Given the description of an element on the screen output the (x, y) to click on. 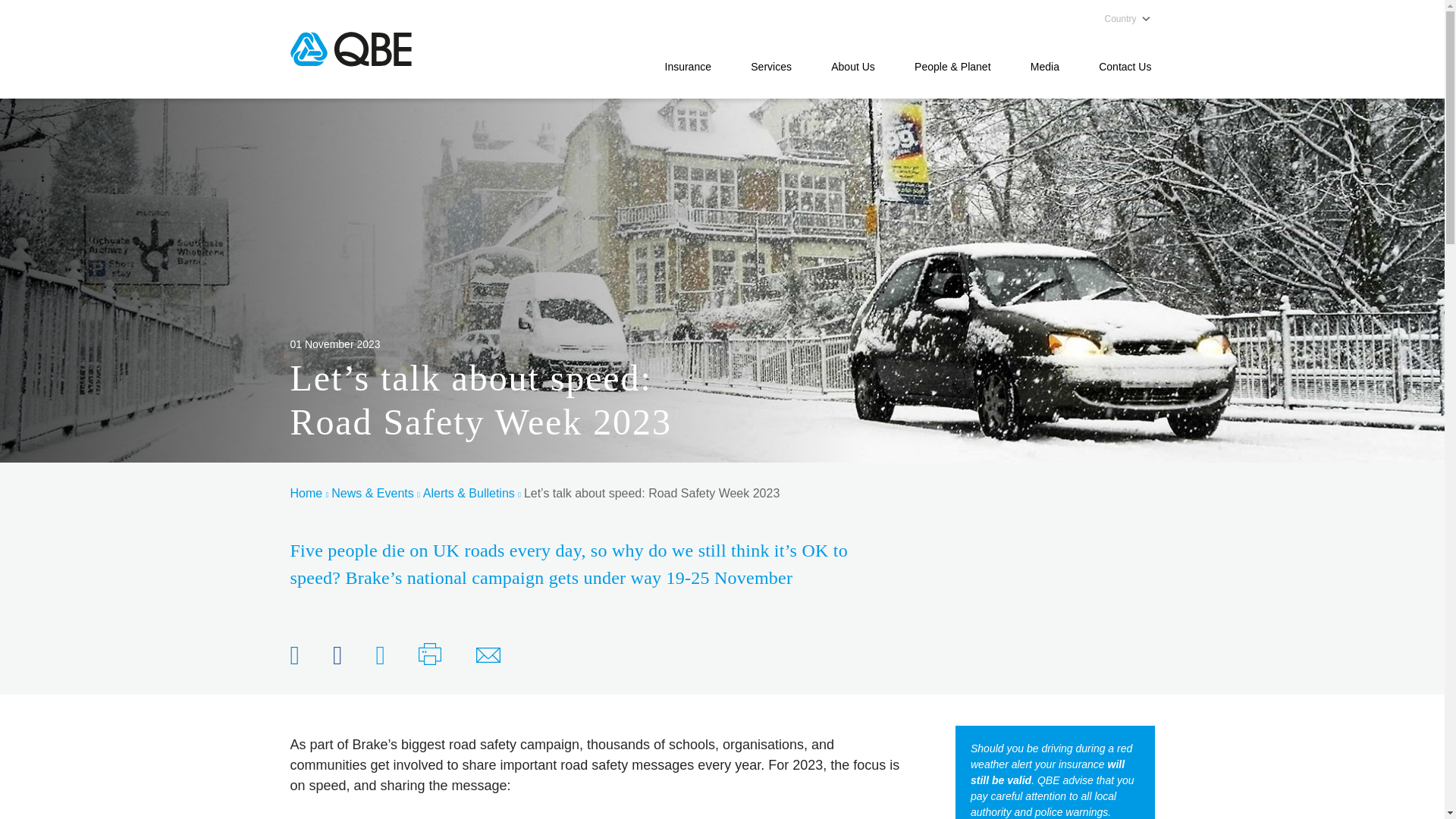
Email icon (488, 651)
Home (309, 493)
Printer icon (430, 651)
